Given the description of an element on the screen output the (x, y) to click on. 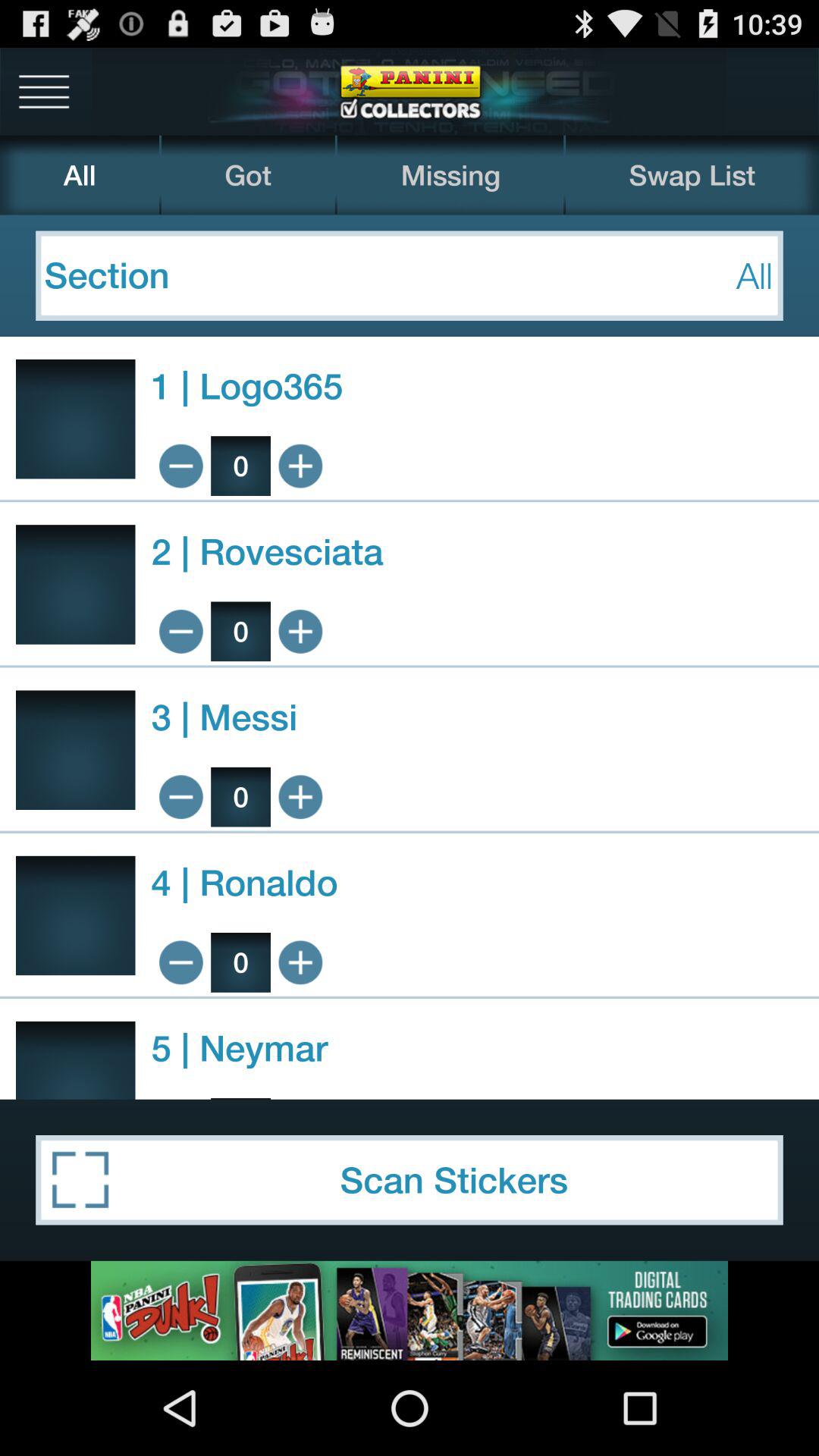
advertisement click (409, 1310)
